Given the description of an element on the screen output the (x, y) to click on. 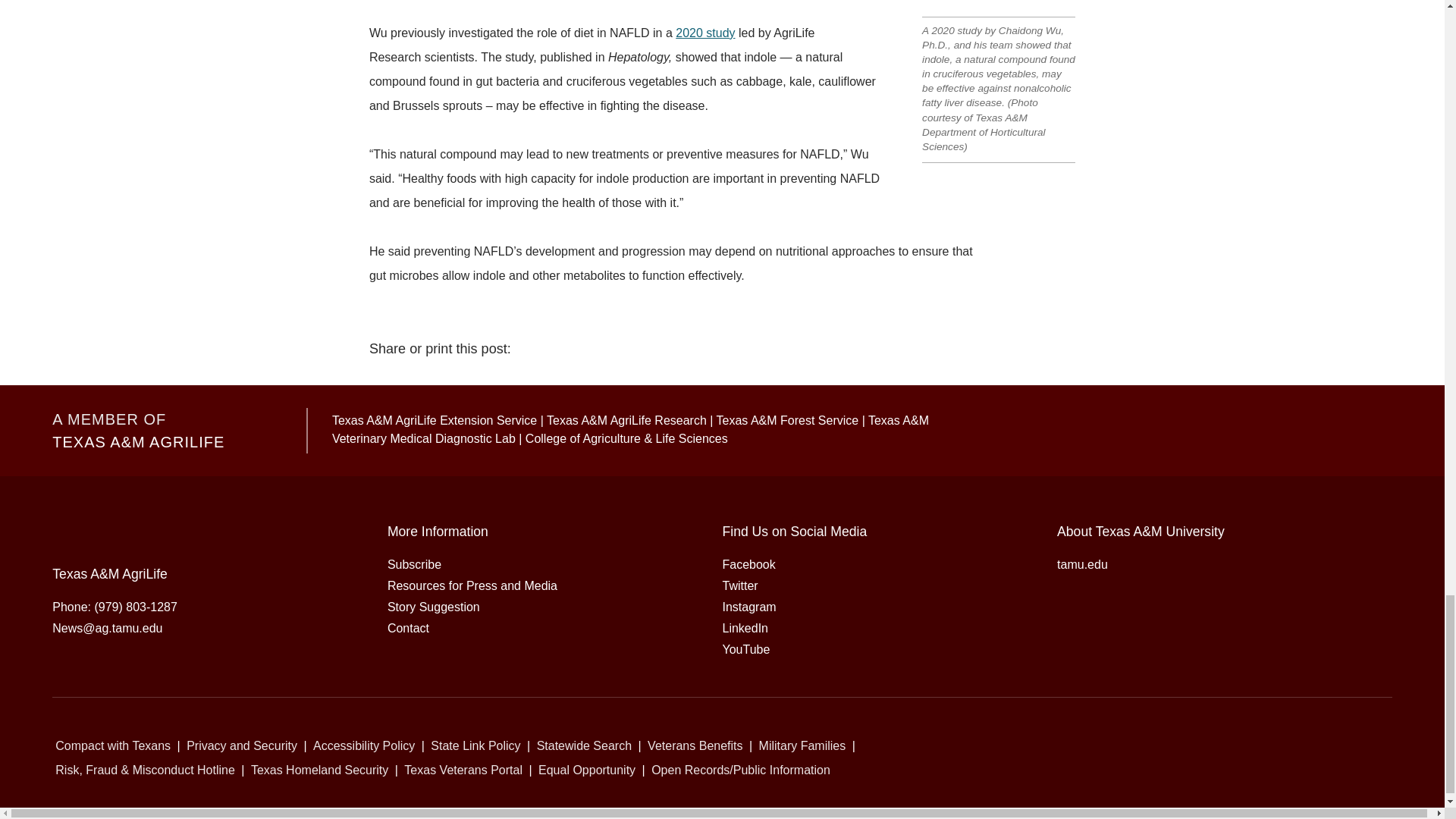
2020 study (705, 32)
